Given the description of an element on the screen output the (x, y) to click on. 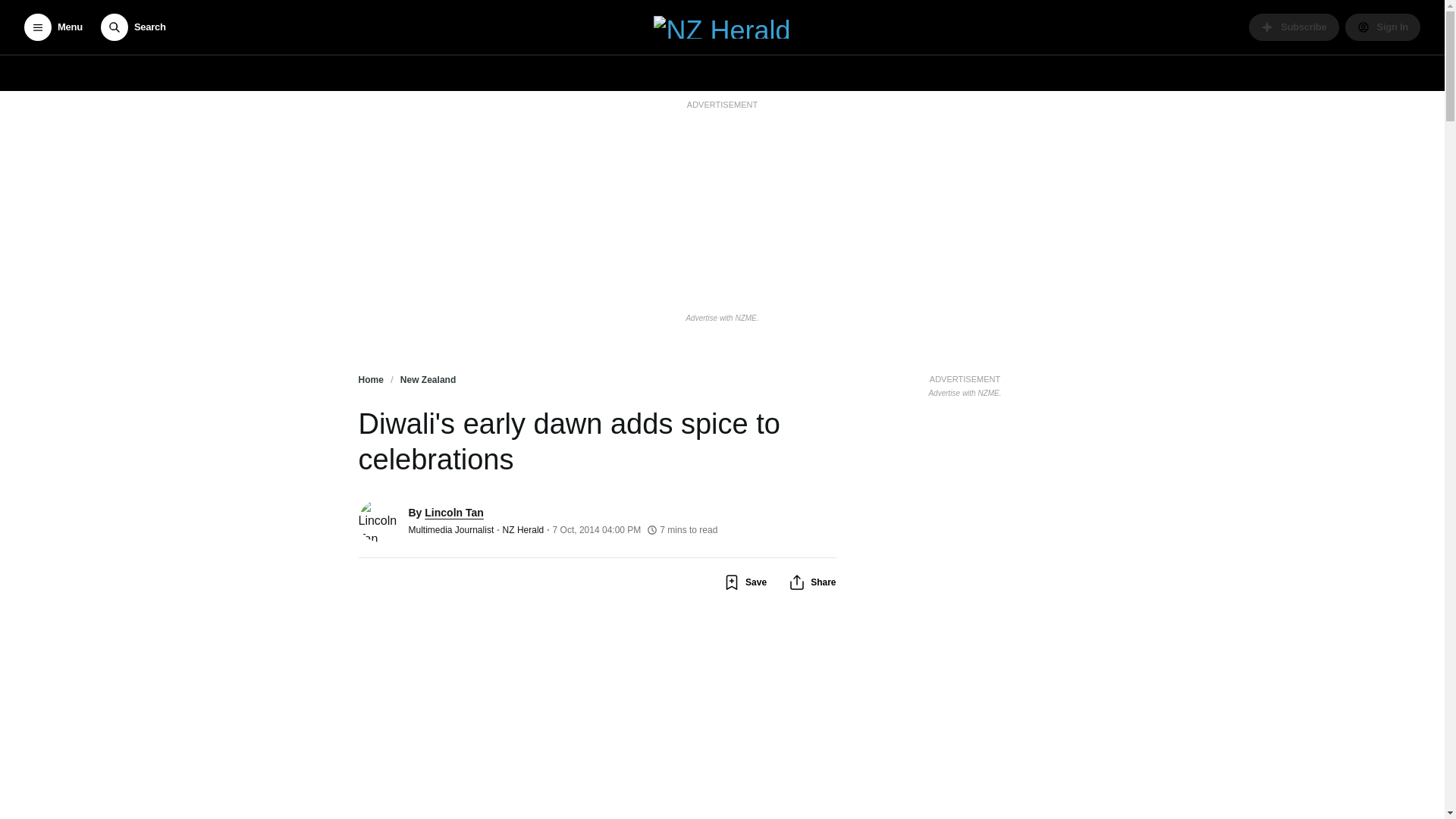
Manage your account (1383, 26)
Search (132, 26)
Subscribe (1294, 26)
Sign In (1383, 26)
Menu (53, 26)
